Given the description of an element on the screen output the (x, y) to click on. 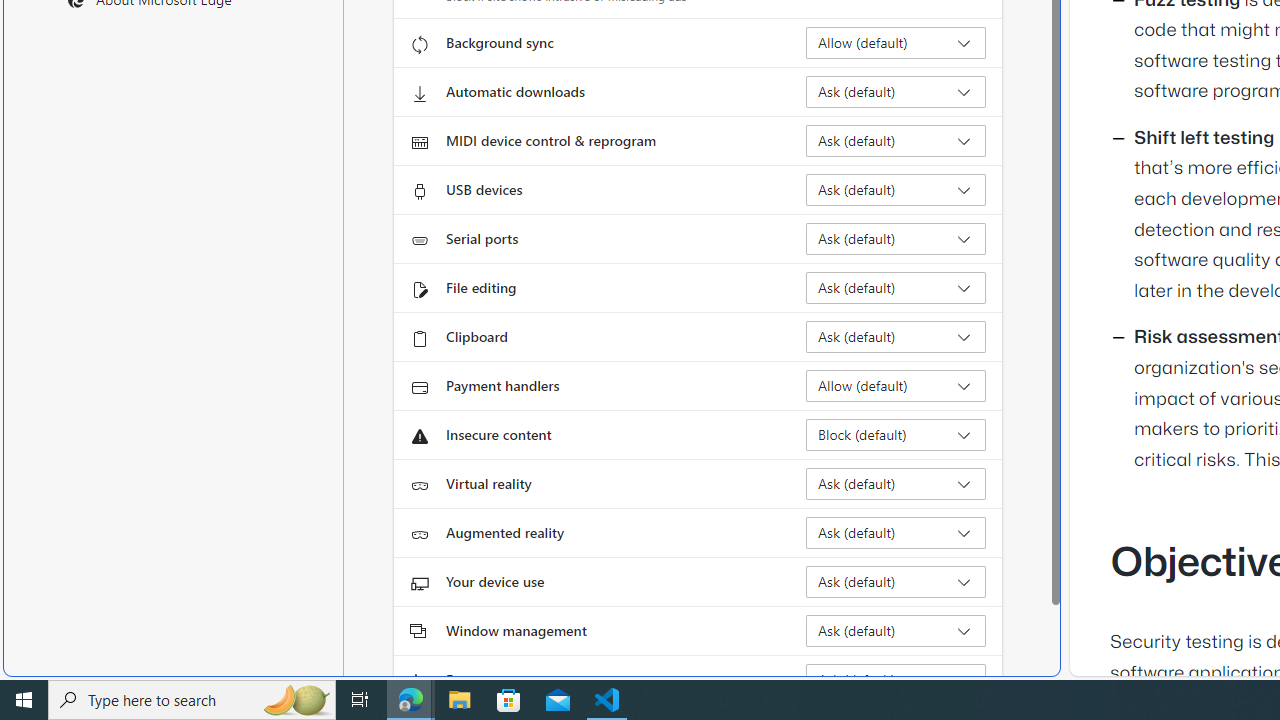
Virtual reality Ask (default) (895, 483)
Fonts Ask (default) (895, 679)
MIDI device control & reprogram Ask (default) (895, 140)
Insecure content Block (default) (895, 434)
Your device use Ask (default) (895, 581)
USB devices Ask (default) (895, 189)
Window management Ask (default) (895, 630)
File editing Ask (default) (895, 287)
Serial ports Ask (default) (895, 238)
Payment handlers Allow (default) (895, 385)
Background sync Allow (default) (895, 43)
Automatic downloads Ask (default) (895, 92)
Augmented reality Ask (default) (895, 532)
Clipboard Ask (default) (895, 336)
